Given the description of an element on the screen output the (x, y) to click on. 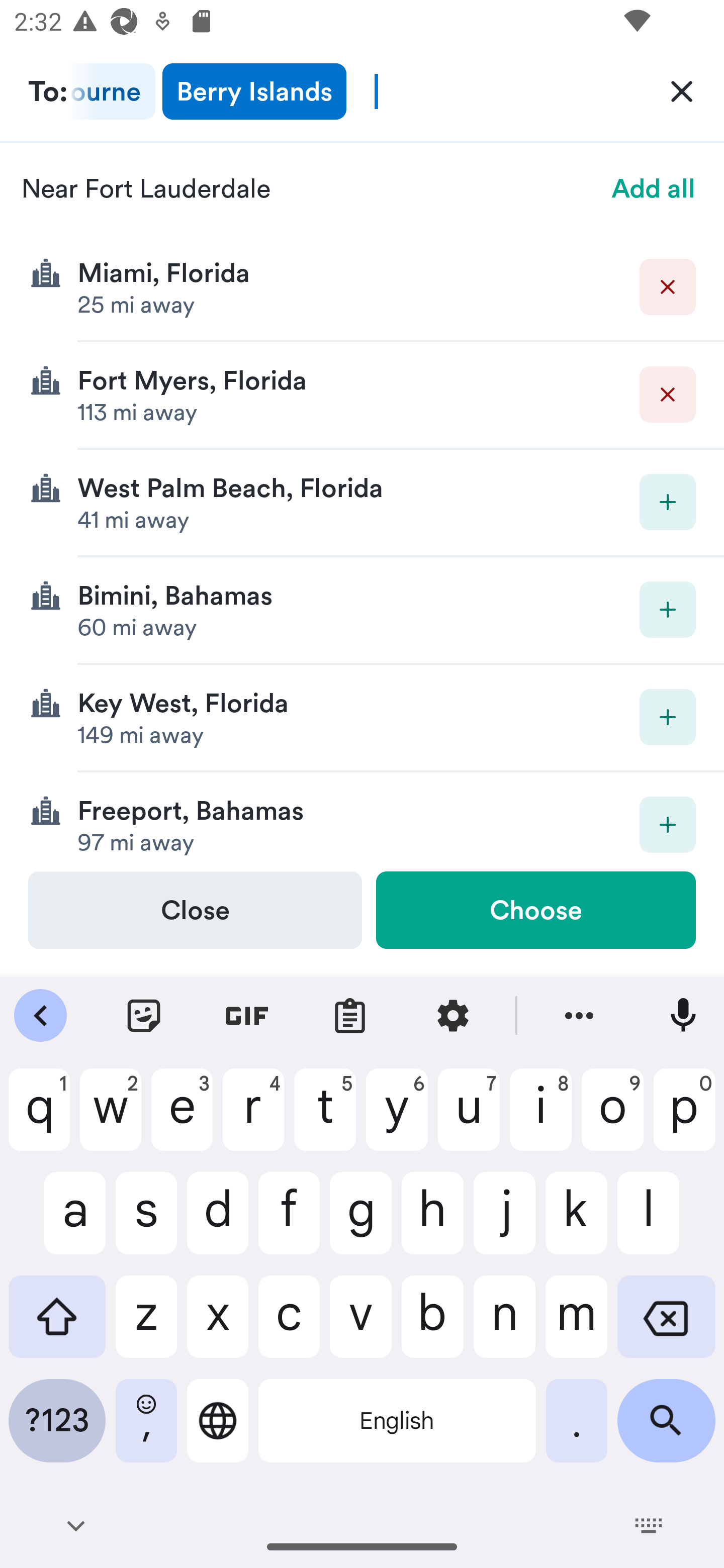
Clear All (681, 90)
Melbourne (111, 91)
Add all (653, 187)
Delete Miami, Florida 25 mi away (362, 287)
Delete (667, 286)
Delete Fort Myers, Florida 113 mi away (362, 395)
Delete (667, 394)
Add destination (667, 501)
Add destination Bimini, Bahamas 60 mi away (362, 610)
Add destination (667, 609)
Add destination Key West, Florida 149 mi away (362, 717)
Add destination (667, 716)
Add destination Freeport, Bahamas 97 mi away (362, 821)
Add destination (667, 824)
Close (195, 909)
Choose (535, 909)
